Given the description of an element on the screen output the (x, y) to click on. 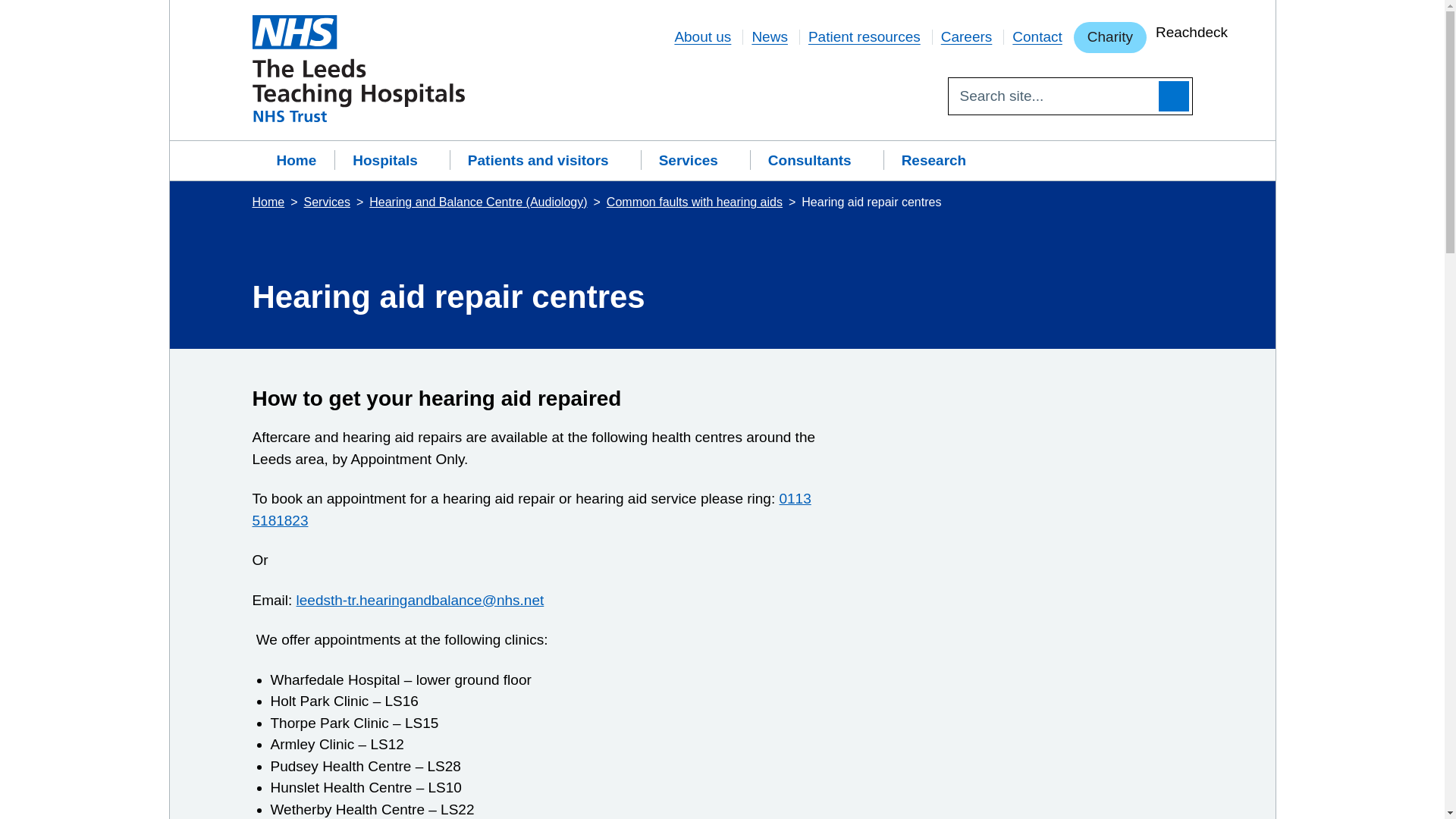
Go to Services. (328, 202)
Patients and visitors (544, 160)
Go to Common faults with hearing aids. (696, 202)
Home (292, 160)
Hospitals (391, 160)
Services (694, 160)
News (769, 37)
About us (702, 37)
Contact (1036, 37)
Careers (966, 37)
